Given the description of an element on the screen output the (x, y) to click on. 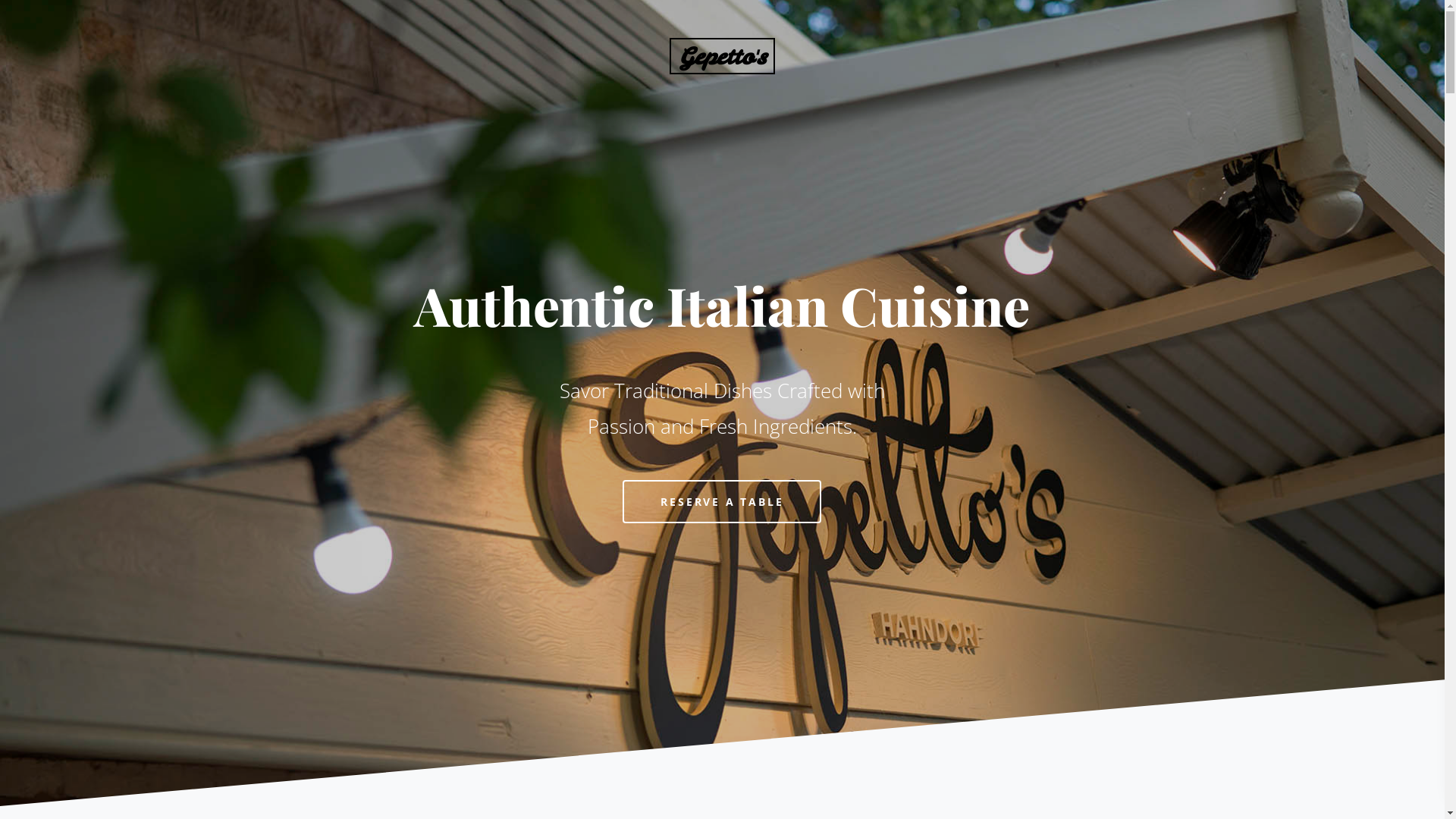
RESERVE A TABLE Element type: text (721, 501)
Gepetto's Element type: text (722, 55)
